Given the description of an element on the screen output the (x, y) to click on. 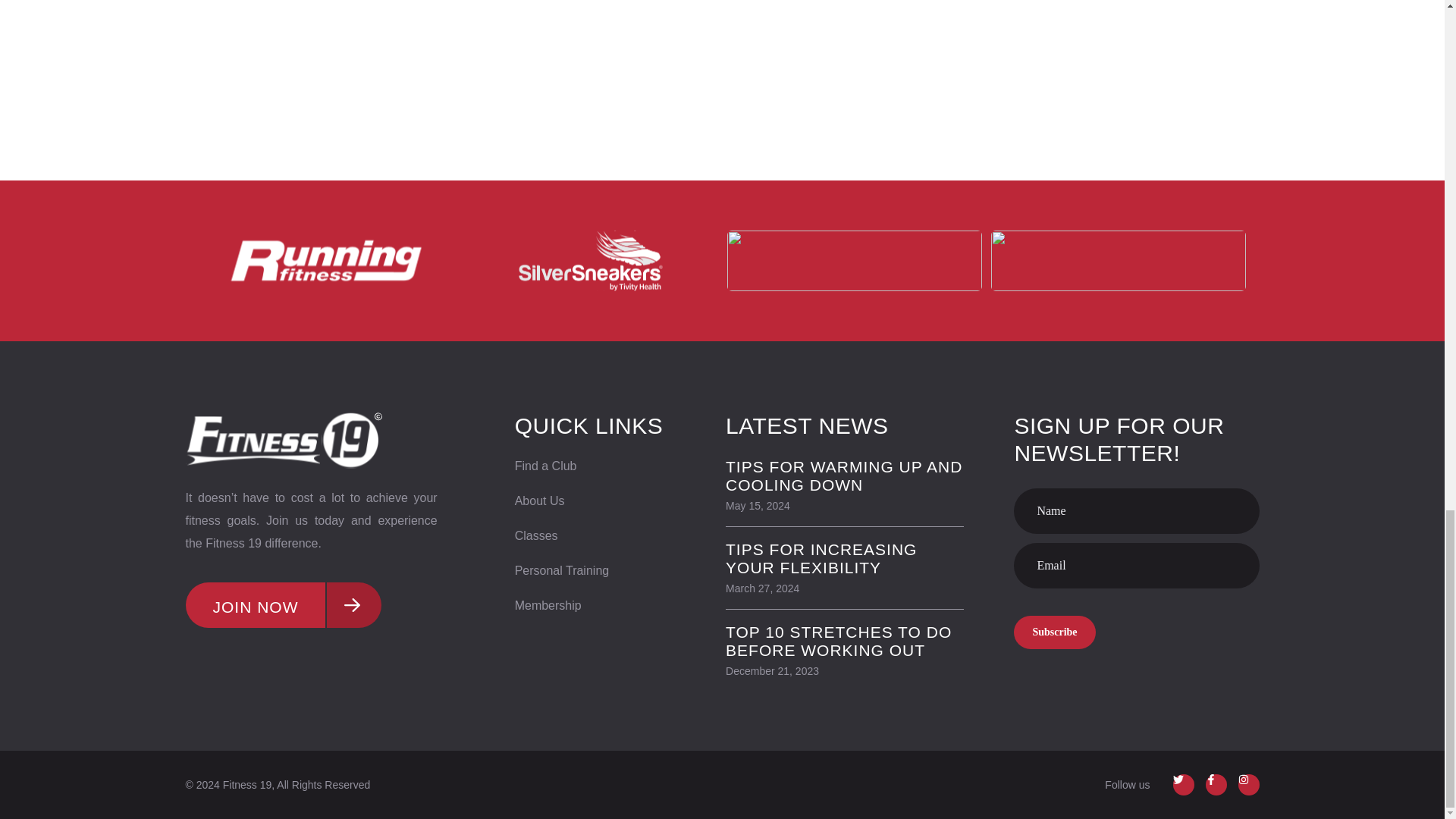
About Us (595, 501)
TIPS FOR INCREASING YOUR FLEXIBILITY (821, 558)
Subscribe (1053, 632)
TIPS FOR WARMING UP AND COOLING DOWN (843, 475)
Membership (595, 605)
TOP 10 STRETCHES TO DO BEFORE WORKING OUT (838, 641)
JOIN NOW (282, 605)
Classes (595, 535)
Find a Club (595, 466)
Personal Training (595, 570)
